Given the description of an element on the screen output the (x, y) to click on. 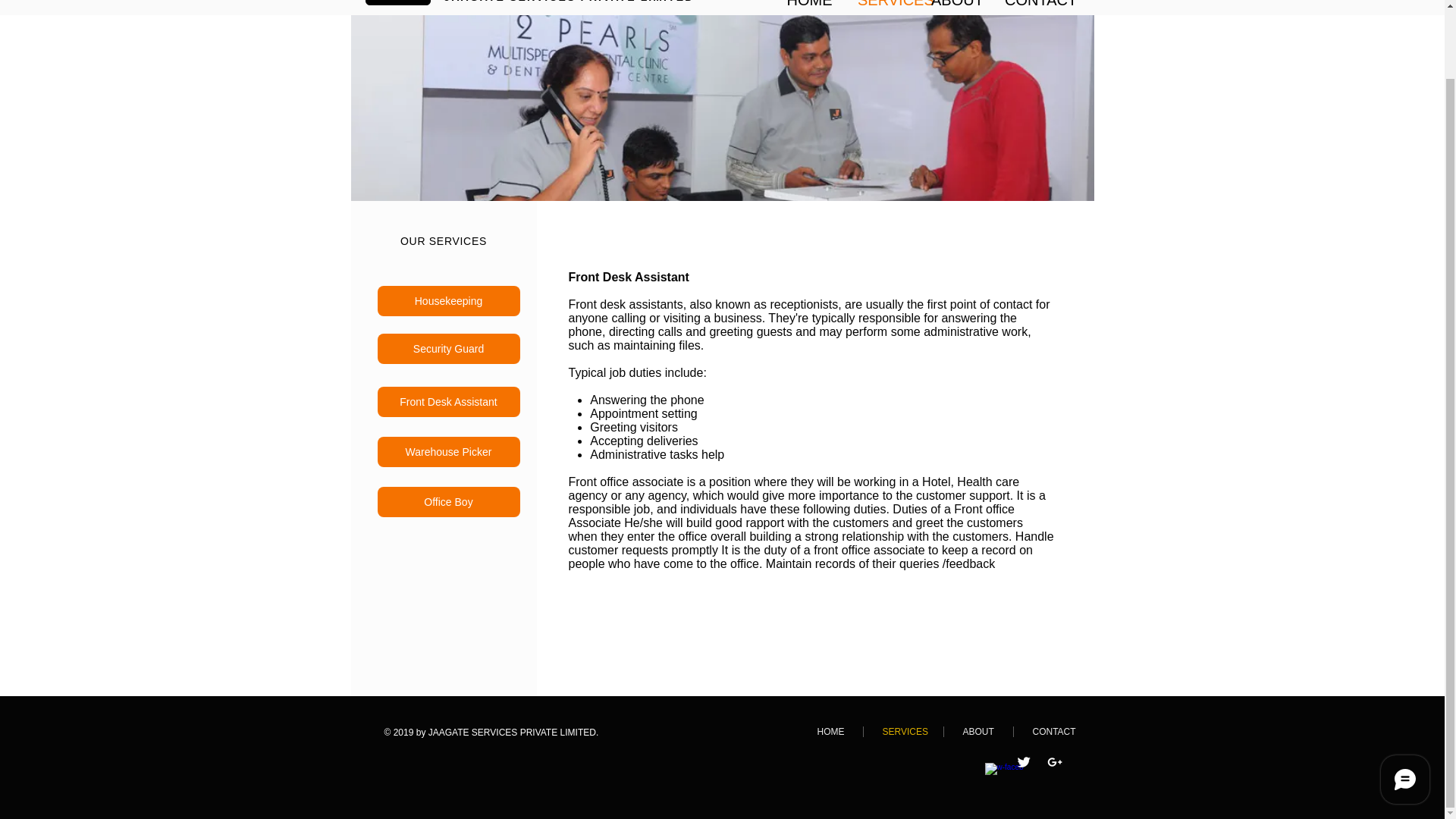
HOME (829, 731)
Office Boy (448, 501)
SERVICES (902, 731)
ABOUT (956, 2)
SERVICES (882, 2)
Security Guard (448, 348)
Warehouse Picker (448, 451)
Front Desk Assistant (448, 401)
CONTACT (1053, 731)
ABOUT (977, 731)
